Given the description of an element on the screen output the (x, y) to click on. 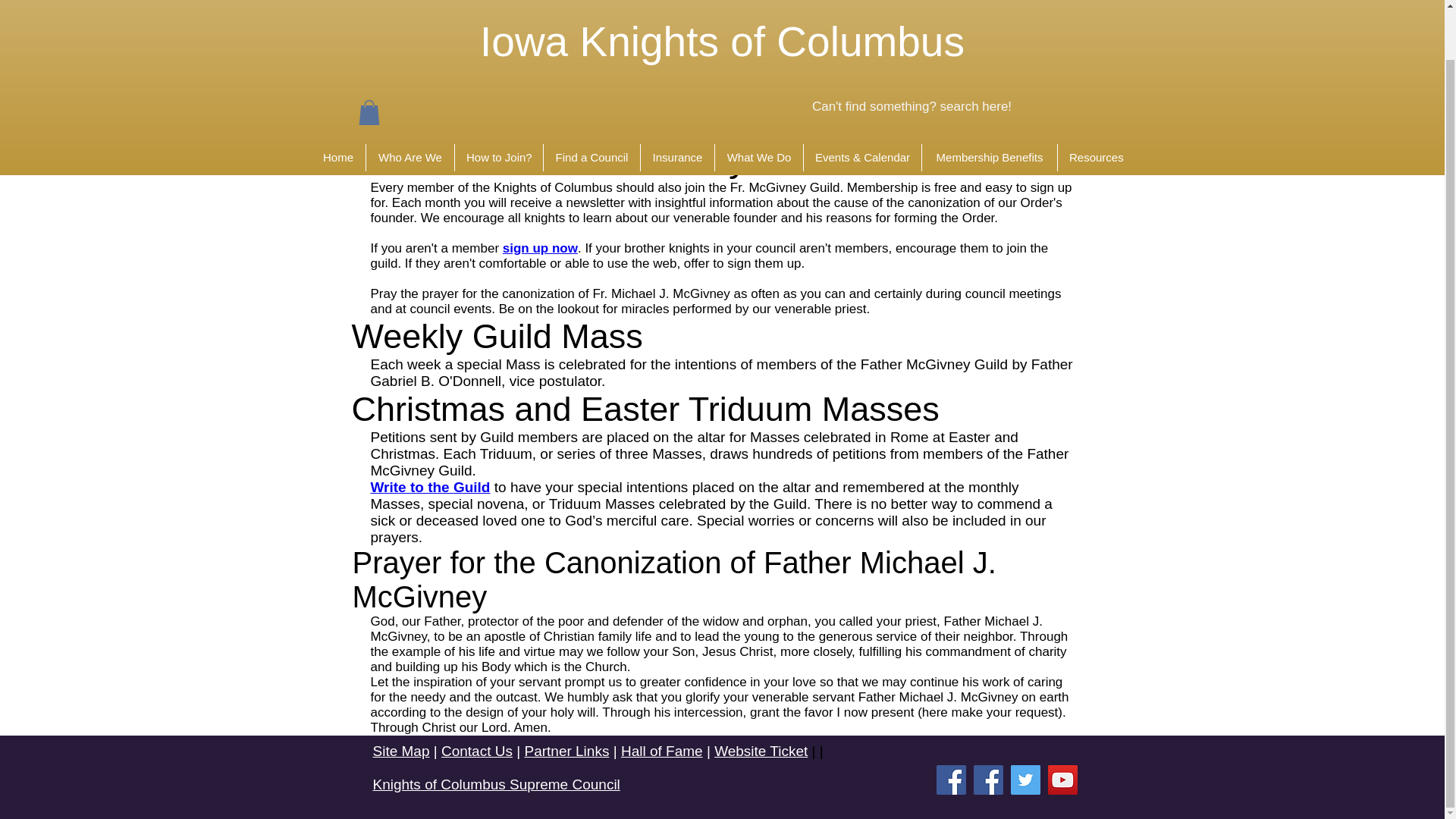
Resources (1096, 103)
Insurance (677, 103)
Home (338, 103)
What We Do (758, 103)
How to Join? (498, 103)
Iowa Knights of Columbus (721, 6)
Who Are We (410, 103)
Find a Council (591, 103)
Membership Benefits (989, 103)
